Given the description of an element on the screen output the (x, y) to click on. 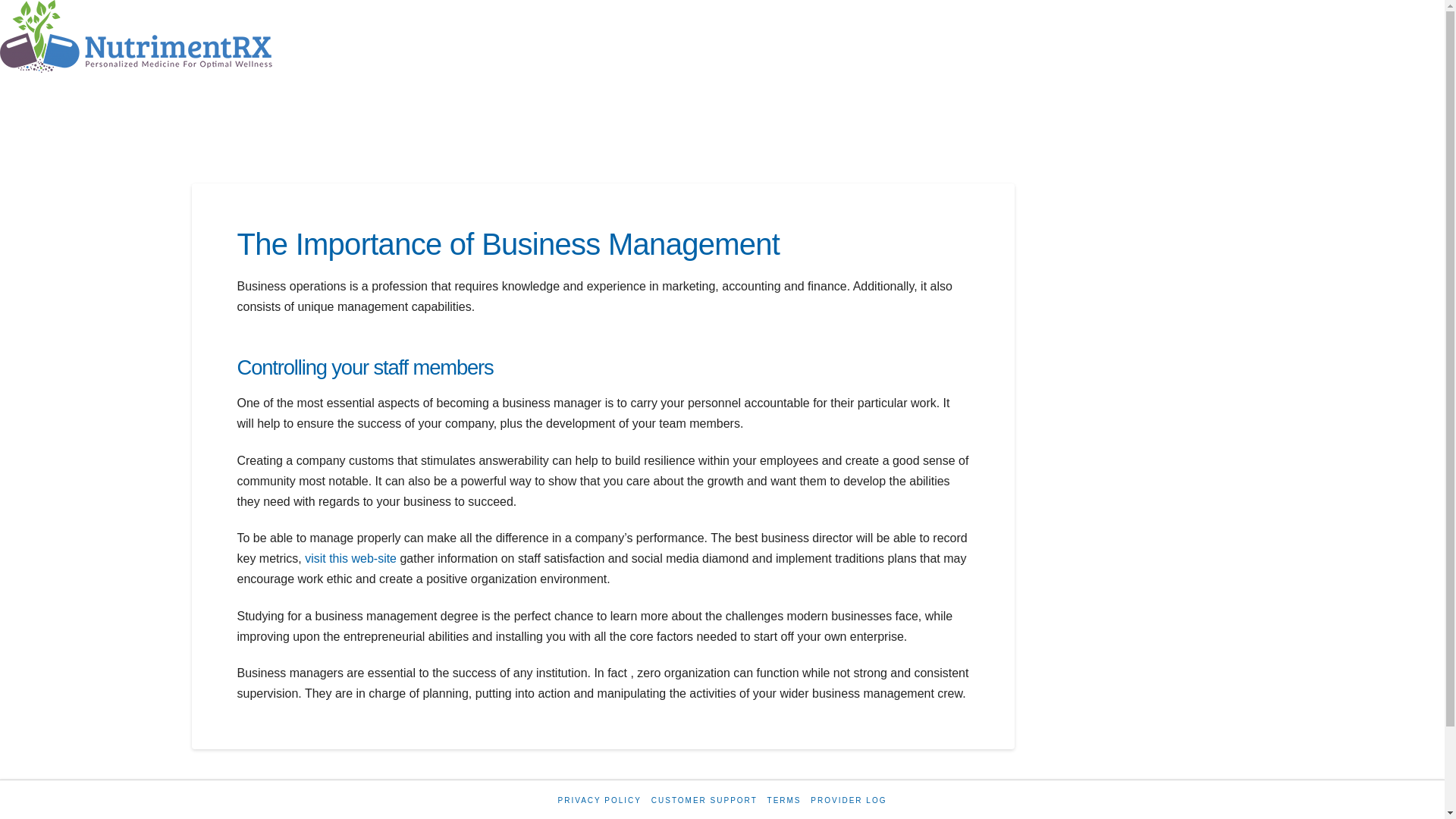
TERMS (784, 800)
PROVIDER LOG (848, 800)
PRIVACY POLICY (599, 800)
CUSTOMER SUPPORT (703, 800)
visit this web-site (350, 558)
